Given the description of an element on the screen output the (x, y) to click on. 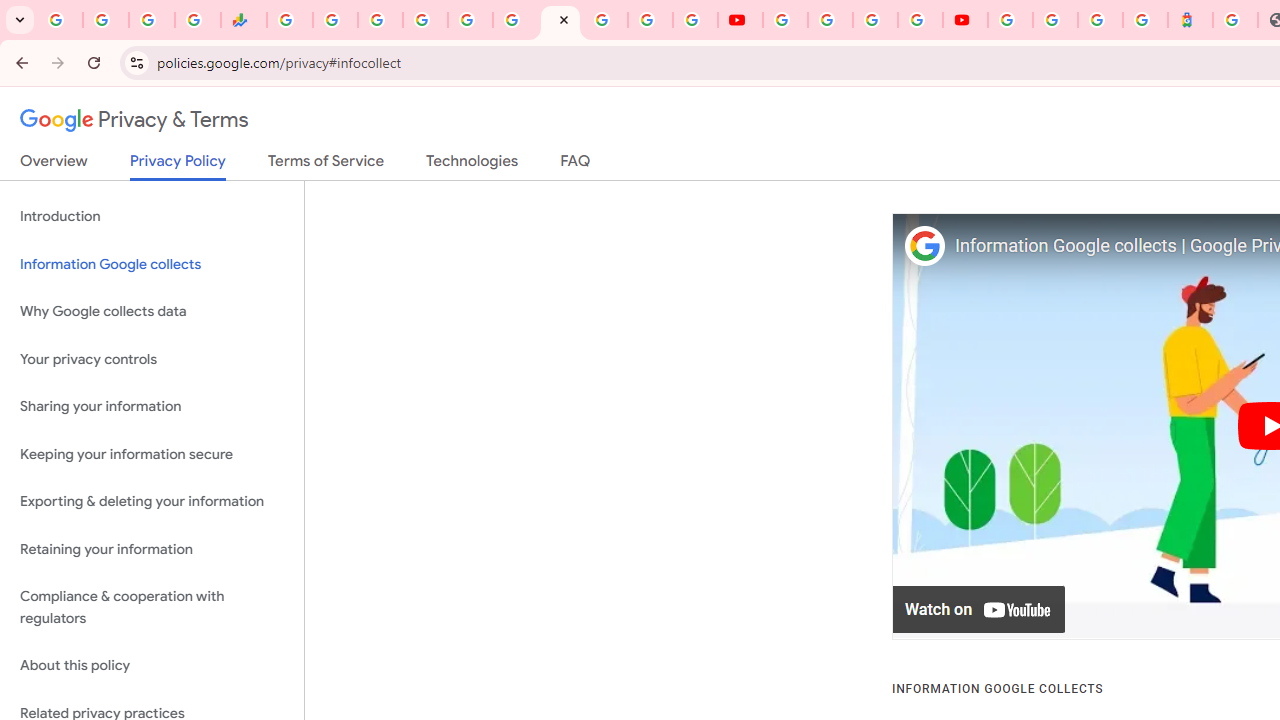
Atour Hotel - Google hotels (1190, 20)
Google Account Help (829, 20)
Sign in - Google Accounts (1055, 20)
Photo image of Google (924, 246)
Compliance & cooperation with regulators (152, 607)
